Given the description of an element on the screen output the (x, y) to click on. 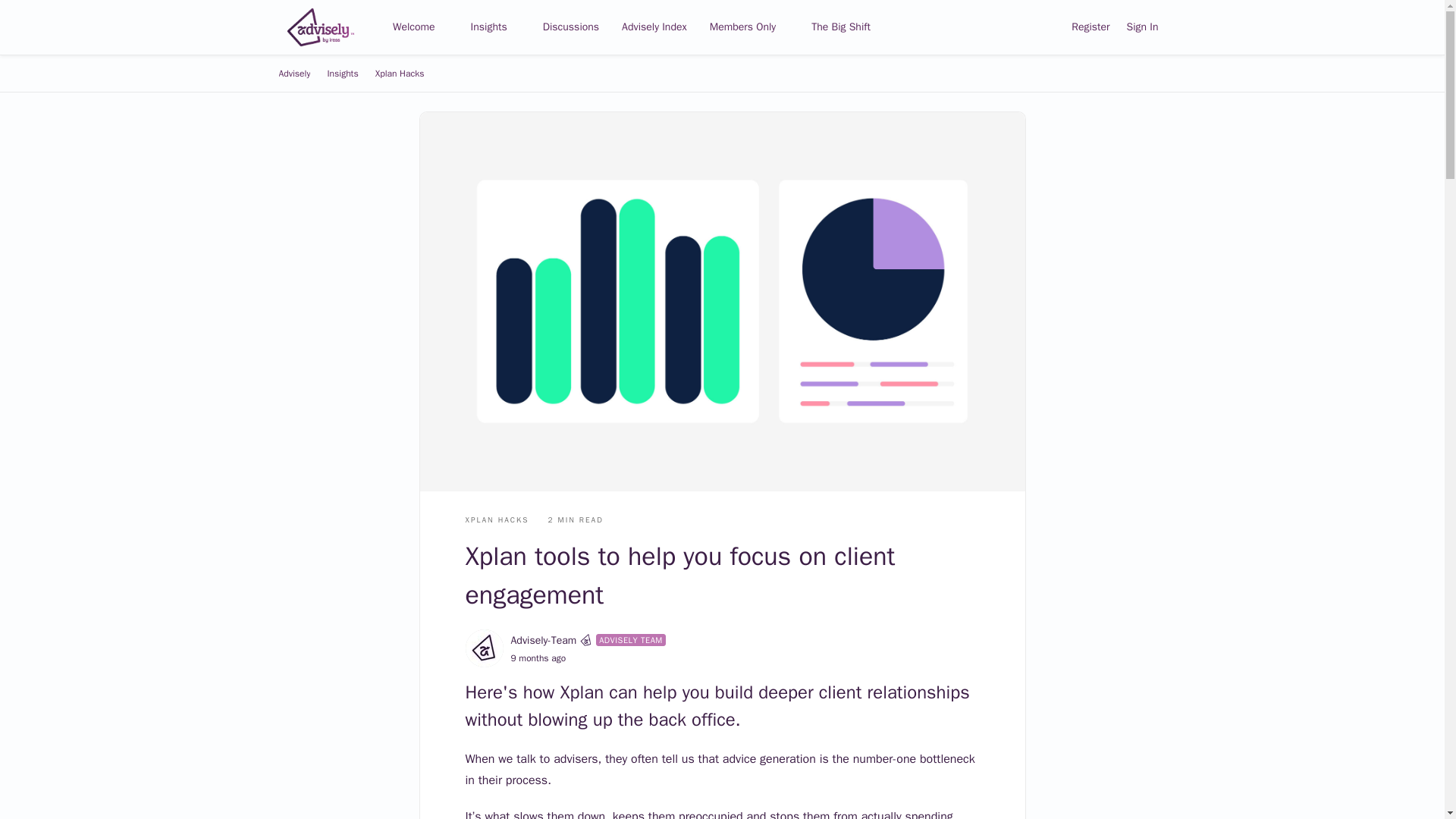
The Big Shift (840, 27)
Members Only (748, 27)
Discussions (571, 27)
Advisely Index (654, 27)
December 4, 2023 at 7:59 AM (538, 657)
Advisely-Team (543, 640)
Skip to content (329, 62)
Insights (342, 73)
Register (1090, 27)
Search (1045, 27)
